Given the description of an element on the screen output the (x, y) to click on. 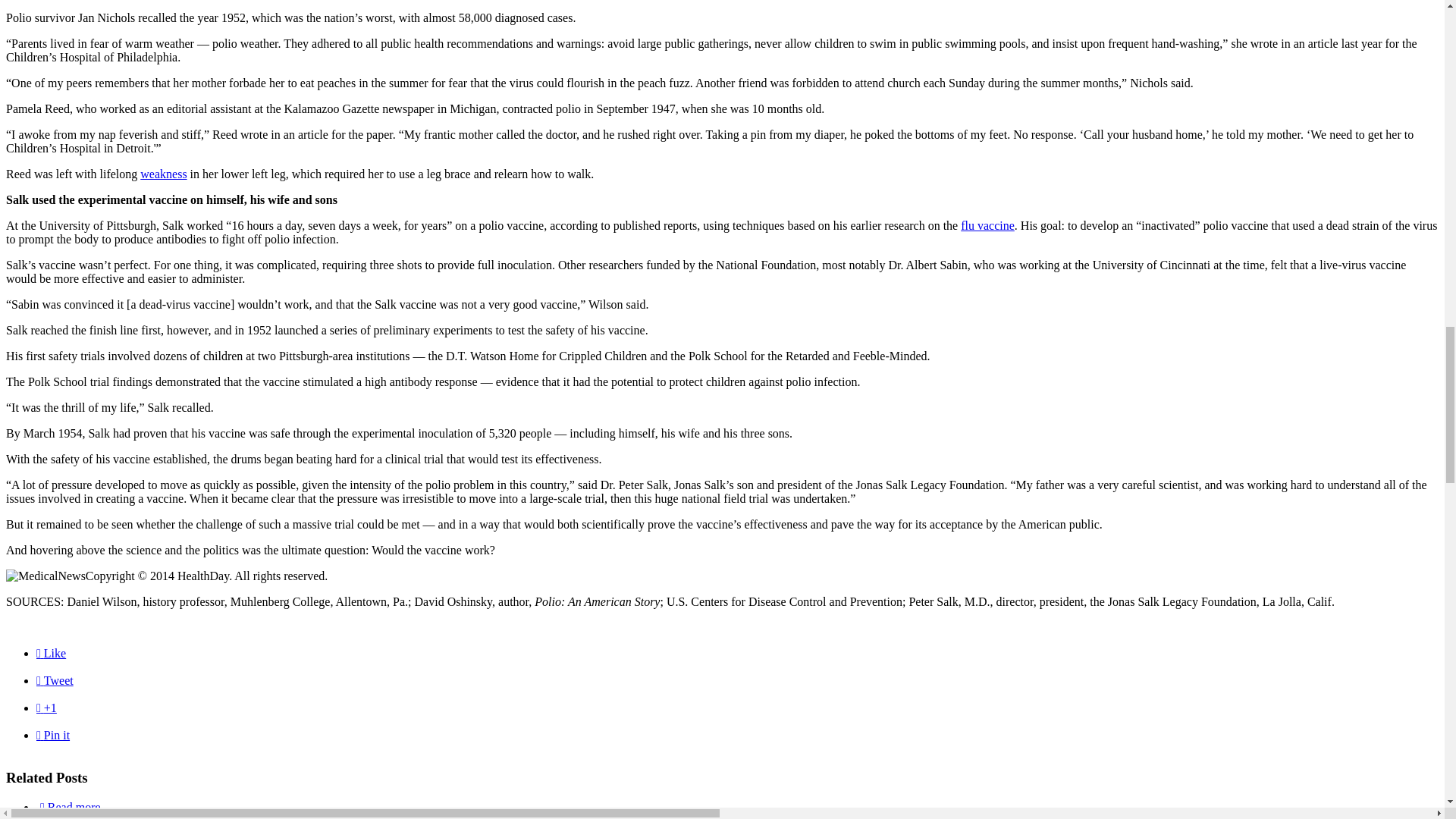
Standard (44, 807)
Share on Facebook (50, 653)
Share on Google Plus (46, 707)
Share on Pinterest (52, 735)
Share on Twitter (55, 680)
